Given the description of an element on the screen output the (x, y) to click on. 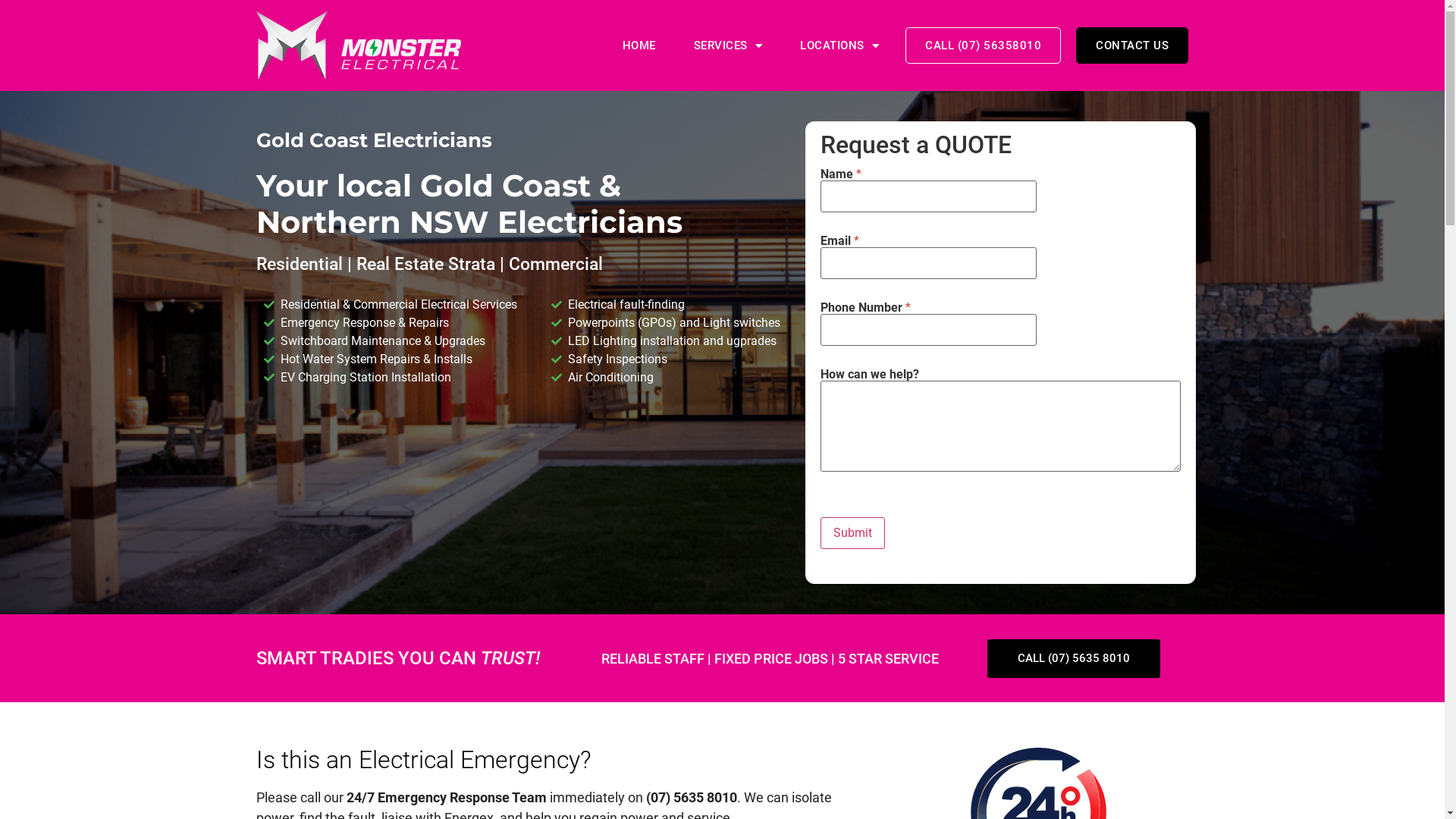
Submit Element type: text (852, 533)
HOME Element type: text (638, 45)
SERVICES Element type: text (727, 45)
CALL (07) 5635 8010 Element type: text (1073, 658)
CONTACT US Element type: text (1131, 45)
CALL (07) 56358010 Element type: text (983, 45)
LOCATIONS Element type: text (839, 45)
